Given the description of an element on the screen output the (x, y) to click on. 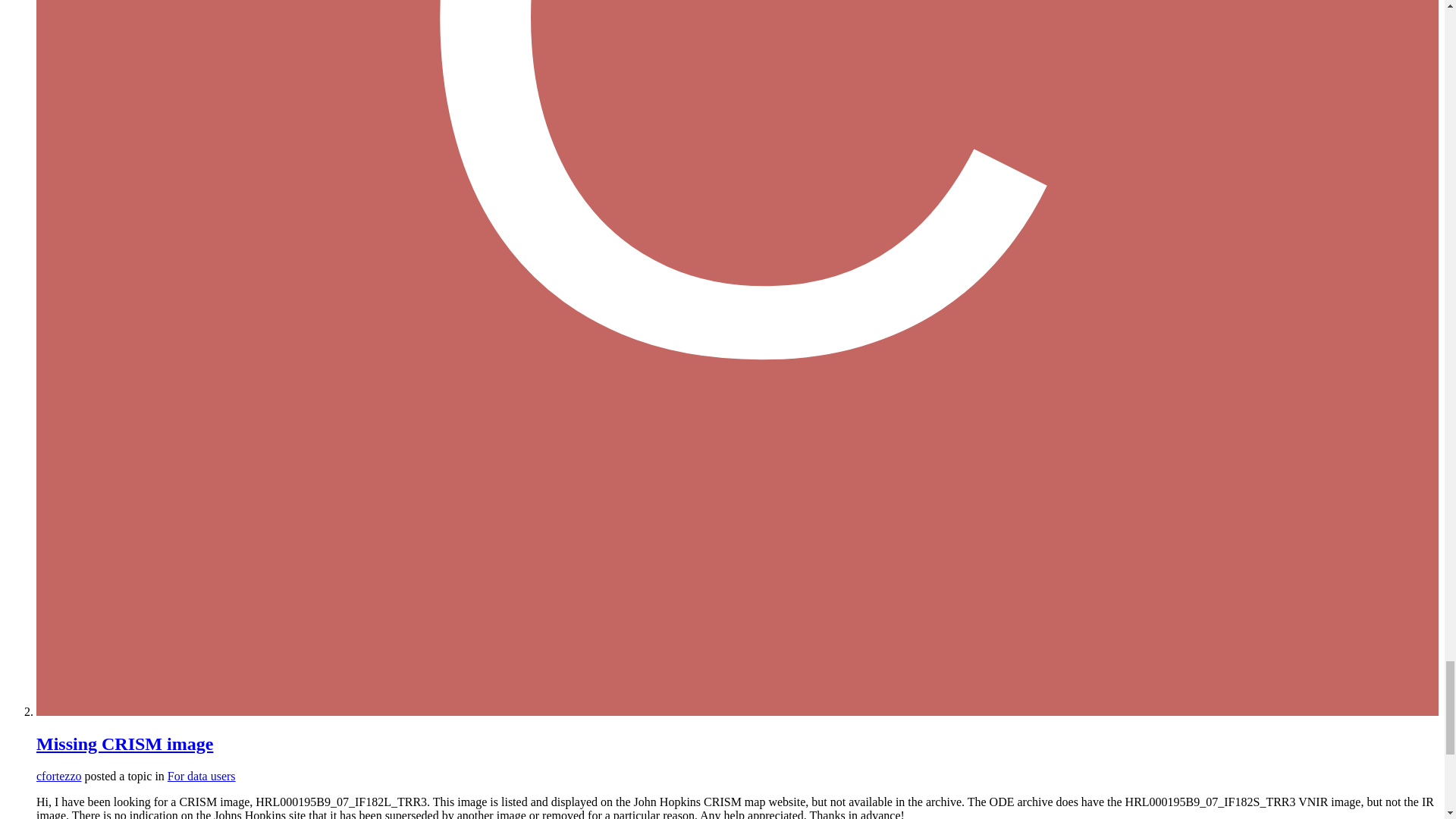
Go to cfortezzo's profile (58, 775)
